Given the description of an element on the screen output the (x, y) to click on. 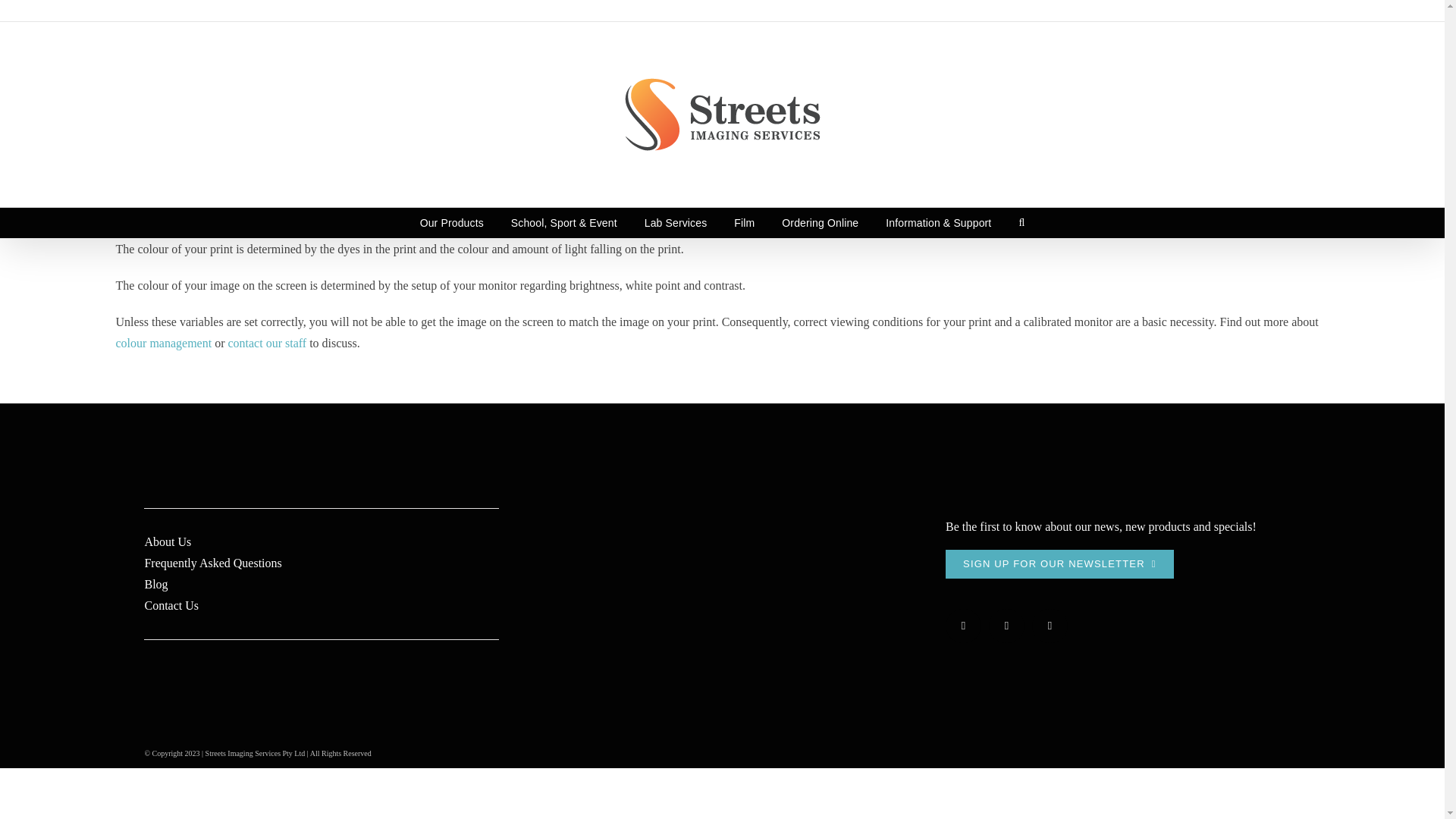
Instagram (1006, 625)
Lab Services (676, 223)
Our Products (451, 223)
Pinterest (1049, 625)
Facebook (962, 625)
